Given the description of an element on the screen output the (x, y) to click on. 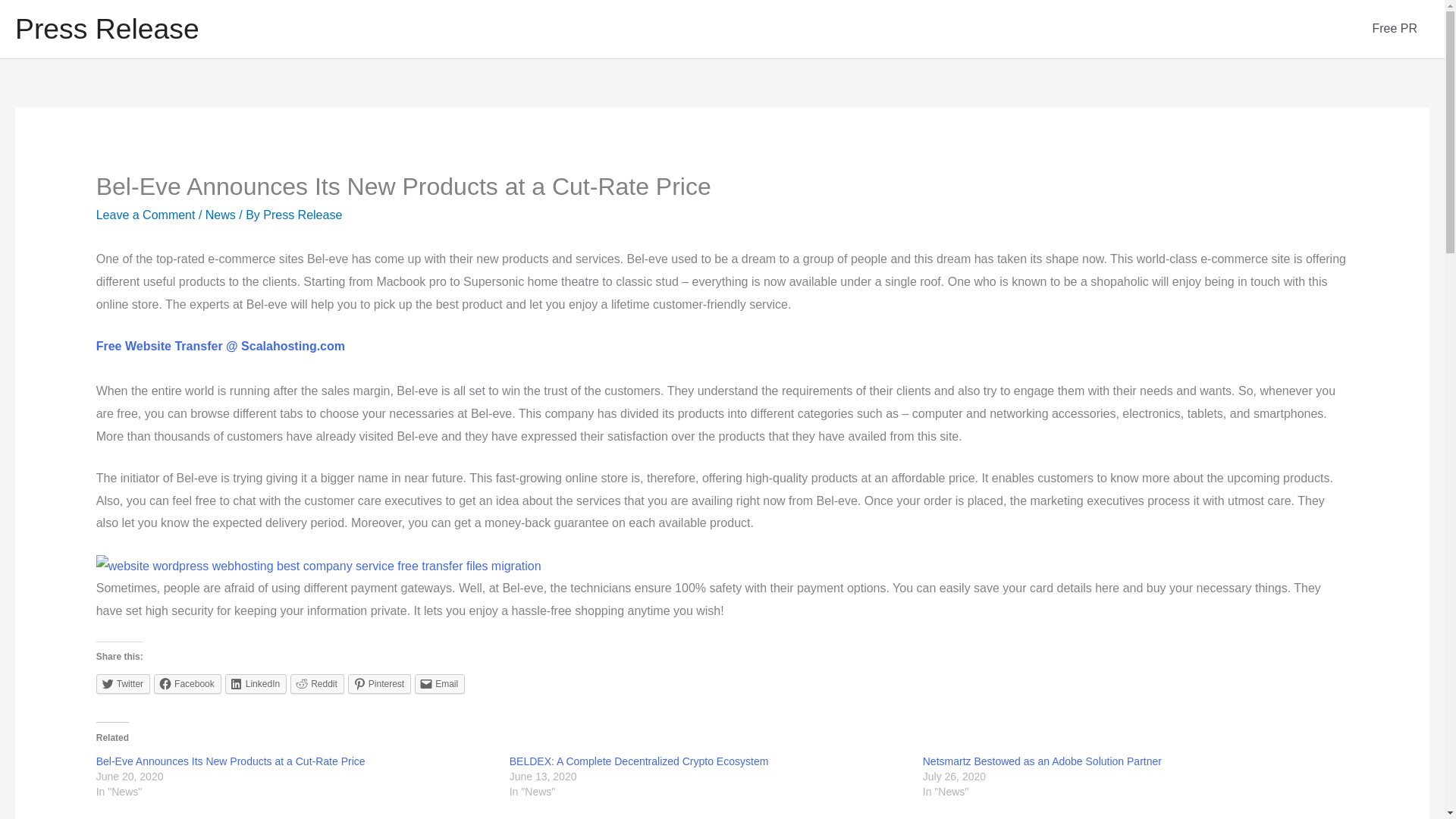
News (220, 214)
BELDEX: A Complete Decentralized Crypto Ecosystem (638, 761)
Reddit (316, 683)
Click to share on Reddit (316, 683)
Click to share on Twitter (122, 683)
Bel-Eve Announces Its New Products at a Cut-Rate Price (230, 761)
Facebook (187, 683)
Free PR (1394, 29)
Pinterest (378, 683)
Email (439, 683)
Bel-Eve Announces Its New Products at a Cut-Rate Price (230, 761)
Twitter (122, 683)
BELDEX: A Complete Decentralized Crypto Ecosystem (638, 761)
Netsmartz Bestowed as an Adobe Solution Partner (1042, 761)
Press Release (106, 29)
